Given the description of an element on the screen output the (x, y) to click on. 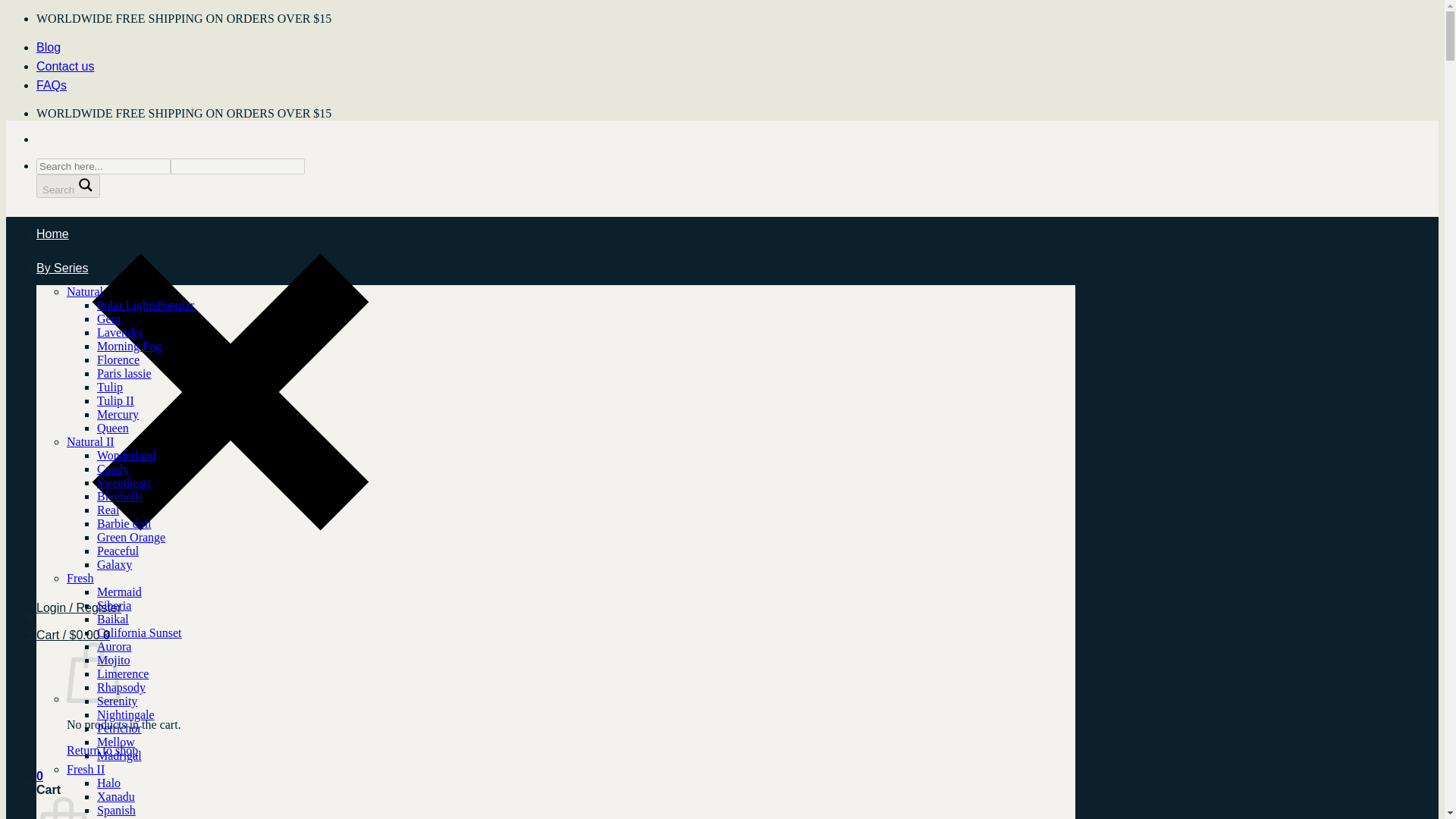
Gem (108, 318)
Natural (84, 291)
Florence (118, 359)
Contact us (65, 65)
Lavender Series Colored Contact Lenses (119, 332)
Tulip II (115, 400)
Tulip (109, 386)
Search (68, 186)
Blog (48, 47)
Morning Fog Series Colored Contact Lenses (129, 345)
Wonderland (126, 454)
Siberia (114, 604)
Colored Contacts FAQs (51, 84)
Galaxy (114, 563)
